Given the description of an element on the screen output the (x, y) to click on. 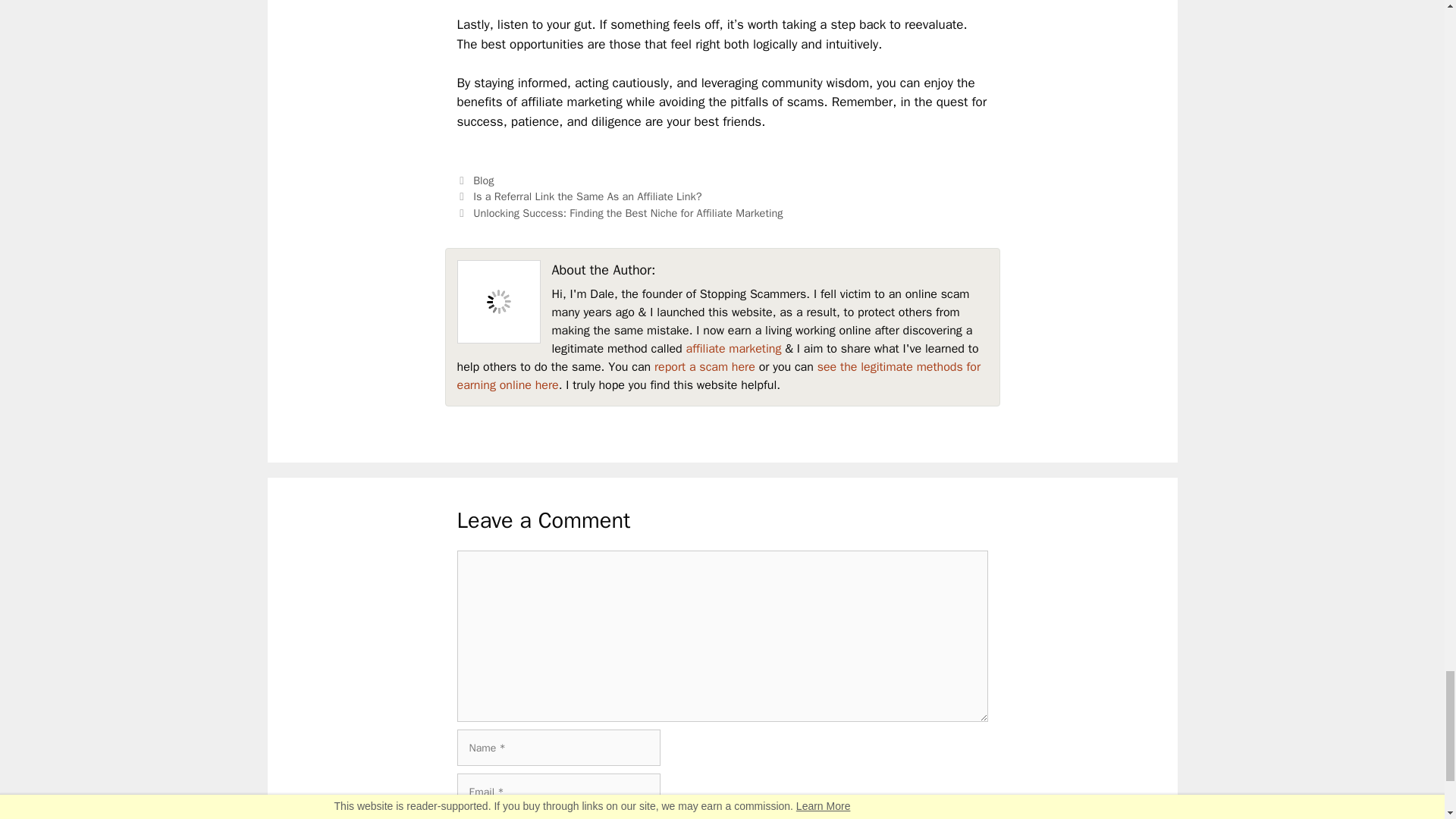
Blog (483, 180)
report a scam here (704, 366)
Is a Referral Link the Same As an Affiliate Link? (587, 196)
see the legitimate methods for earning online here (718, 376)
affiliate marketing (732, 348)
